Given the description of an element on the screen output the (x, y) to click on. 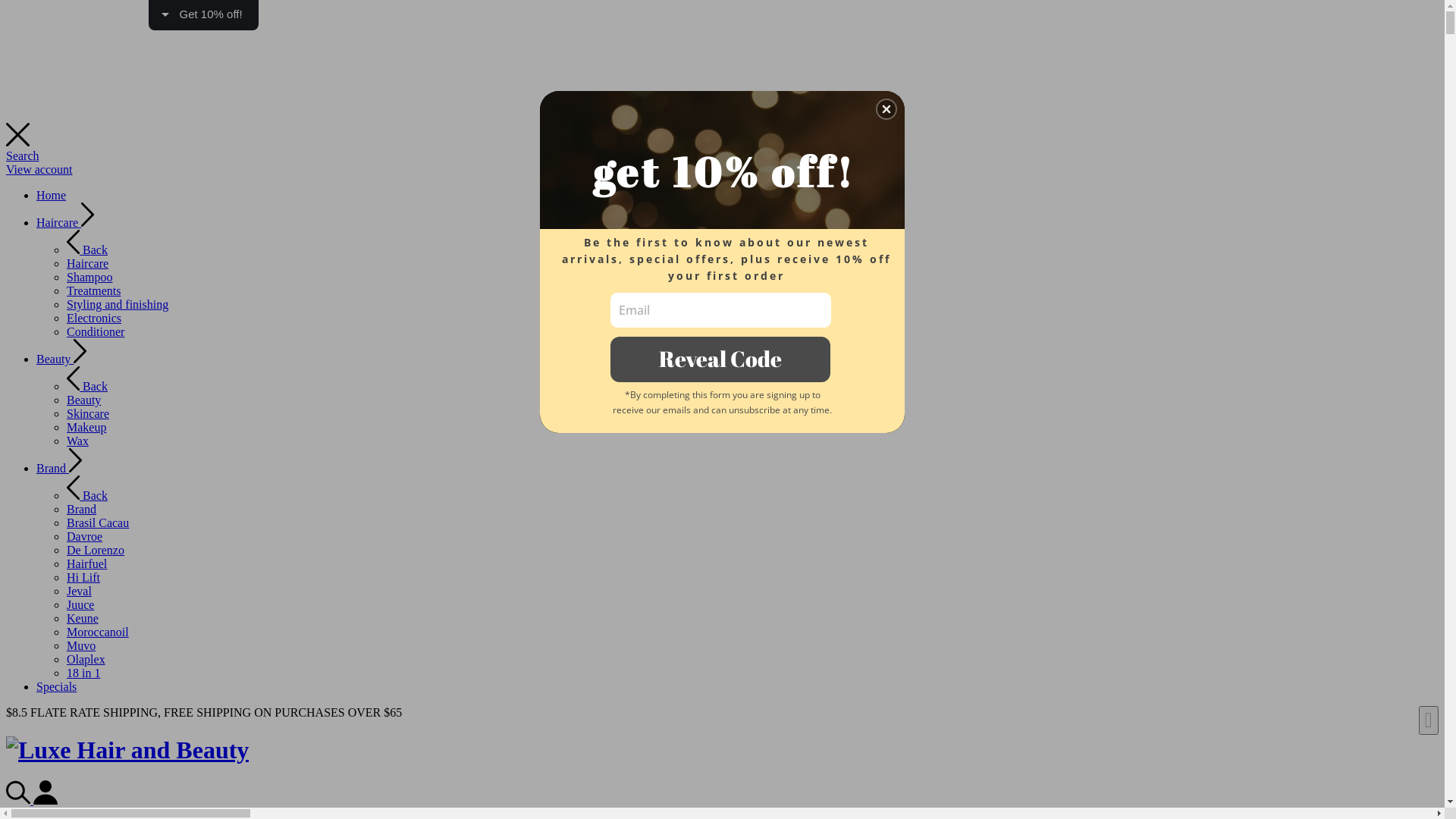
Moroccanoil Element type: text (97, 631)
Brand Element type: text (81, 508)
Beauty Element type: text (61, 358)
Keune Element type: text (82, 617)
Brasil Cacau Element type: text (97, 522)
Specials Element type: text (56, 686)
Haircare Element type: text (87, 263)
Beauty Element type: text (83, 399)
Brand Element type: text (58, 467)
Back Element type: text (86, 495)
Olaplex Element type: text (85, 658)
Back Element type: text (86, 249)
Shampoo Element type: text (89, 276)
Haircare Element type: text (65, 222)
View account Element type: text (39, 169)
Treatments Element type: text (93, 290)
Jeval Element type: text (78, 590)
Styling and finishing Element type: text (117, 304)
Makeup Element type: text (86, 426)
Hairfuel Element type: text (86, 563)
Hi Lift Element type: text (83, 577)
Luxe Hair and Beauty Element type: hover (127, 749)
Juuce Element type: text (80, 604)
Conditioner Element type: text (95, 331)
Back Element type: text (86, 385)
Davroe Element type: text (84, 536)
Skincare Element type: text (87, 413)
Search Element type: text (22, 155)
De Lorenzo Element type: text (95, 549)
18 in 1 Element type: text (83, 672)
Home Element type: text (50, 194)
Wax Element type: text (77, 440)
Close Element type: hover (886, 109)
Muvo Element type: text (80, 645)
Electronics Element type: text (93, 317)
